Given the description of an element on the screen output the (x, y) to click on. 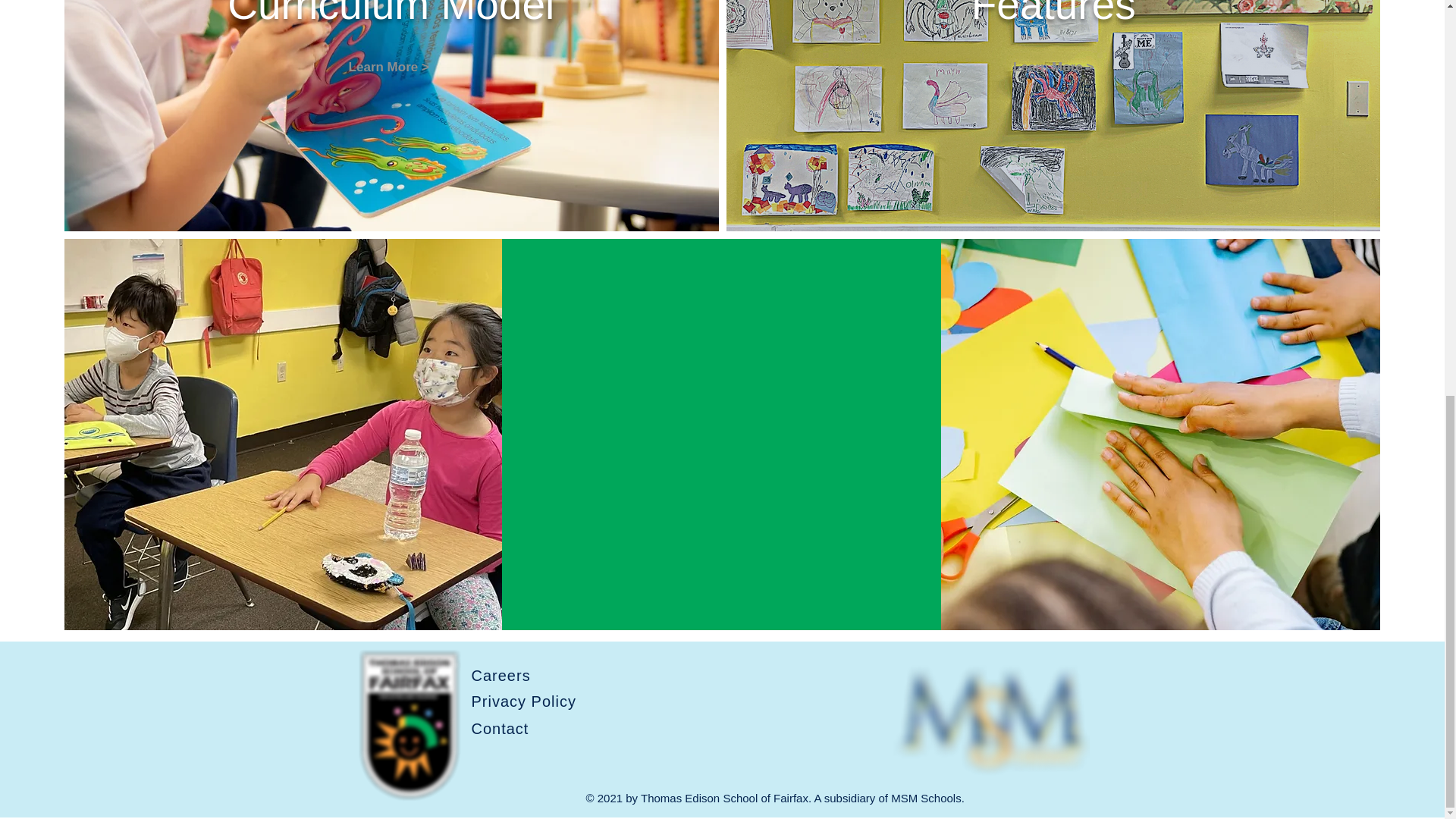
Careers (537, 675)
Privacy Policy (537, 701)
Contact (537, 728)
